Given the description of an element on the screen output the (x, y) to click on. 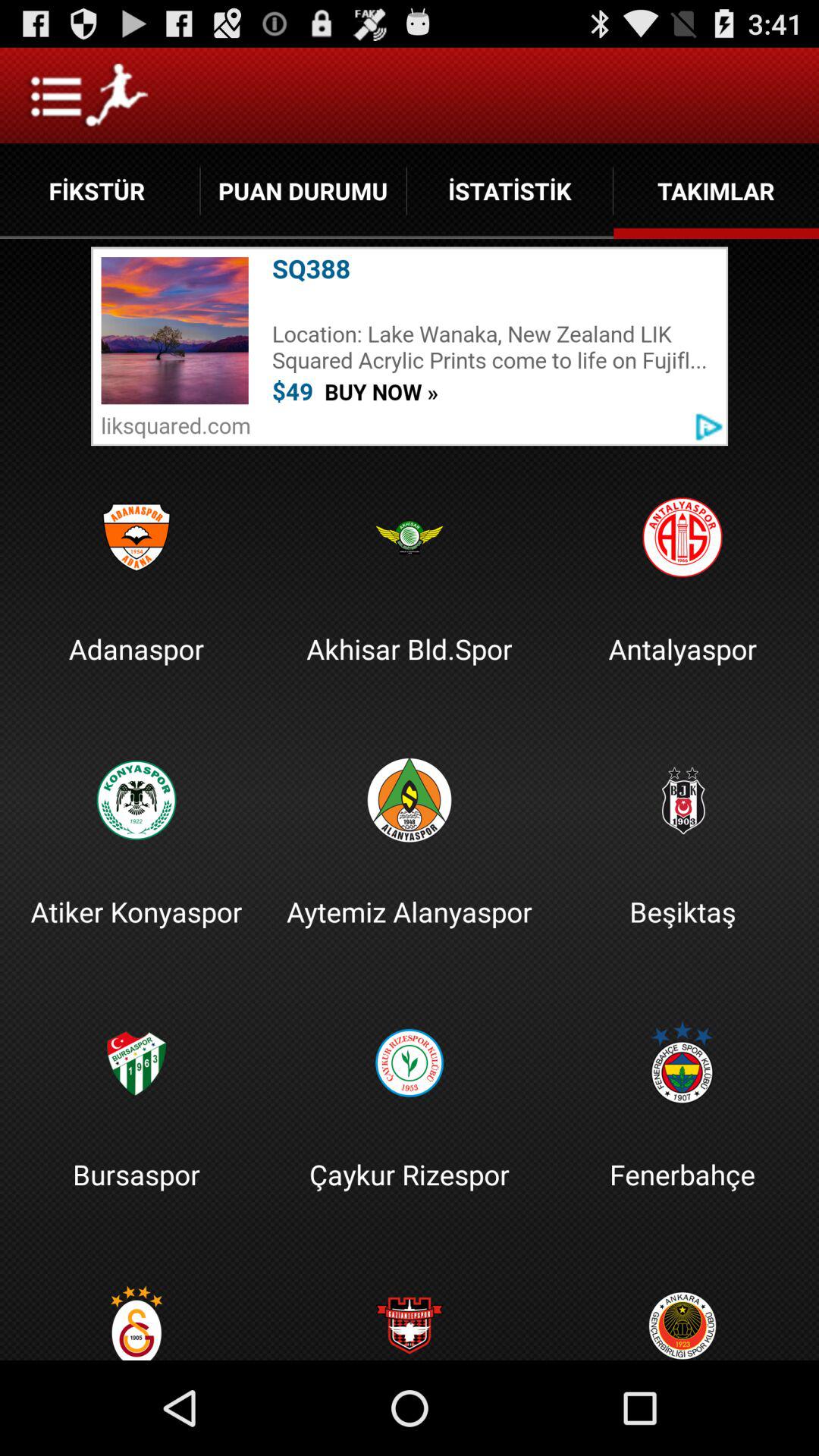
click advertisement (409, 345)
